Given the description of an element on the screen output the (x, y) to click on. 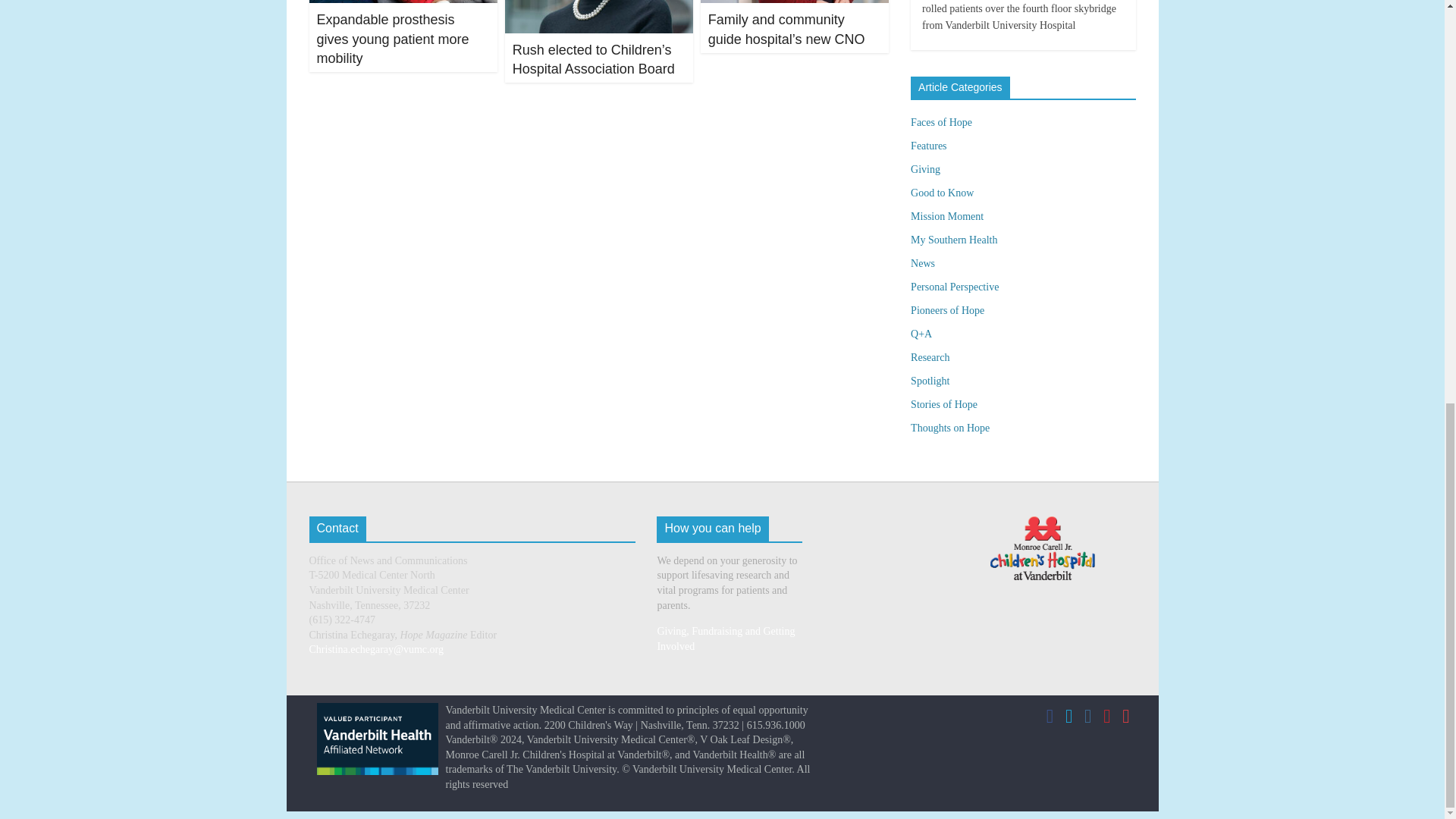
Expandable prosthesis gives young patient more mobility (392, 38)
Expandable prosthesis gives young patient more mobility (392, 38)
Faces of Hope (941, 122)
